Given the description of an element on the screen output the (x, y) to click on. 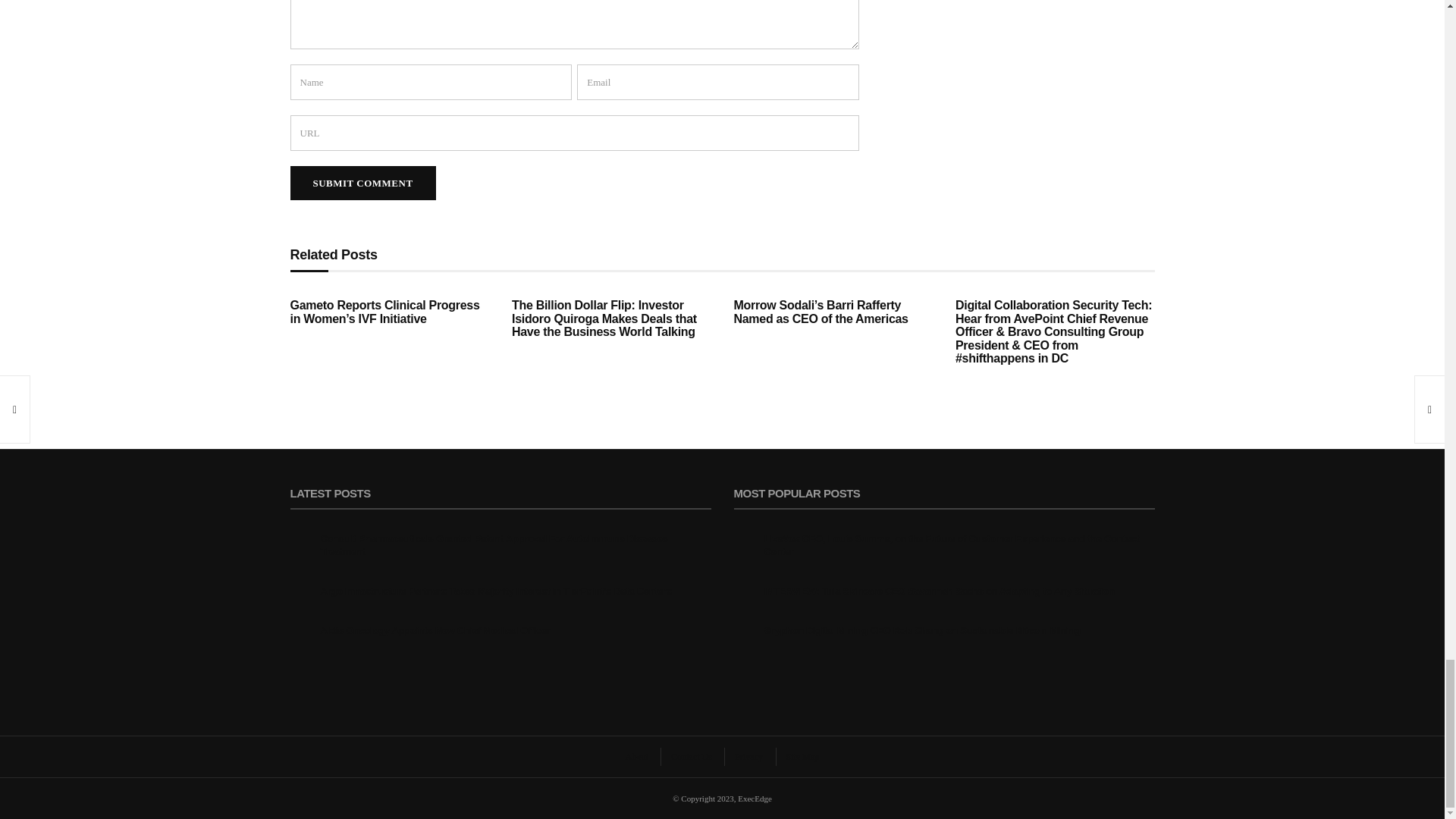
Submit Comment (362, 182)
